Given the description of an element on the screen output the (x, y) to click on. 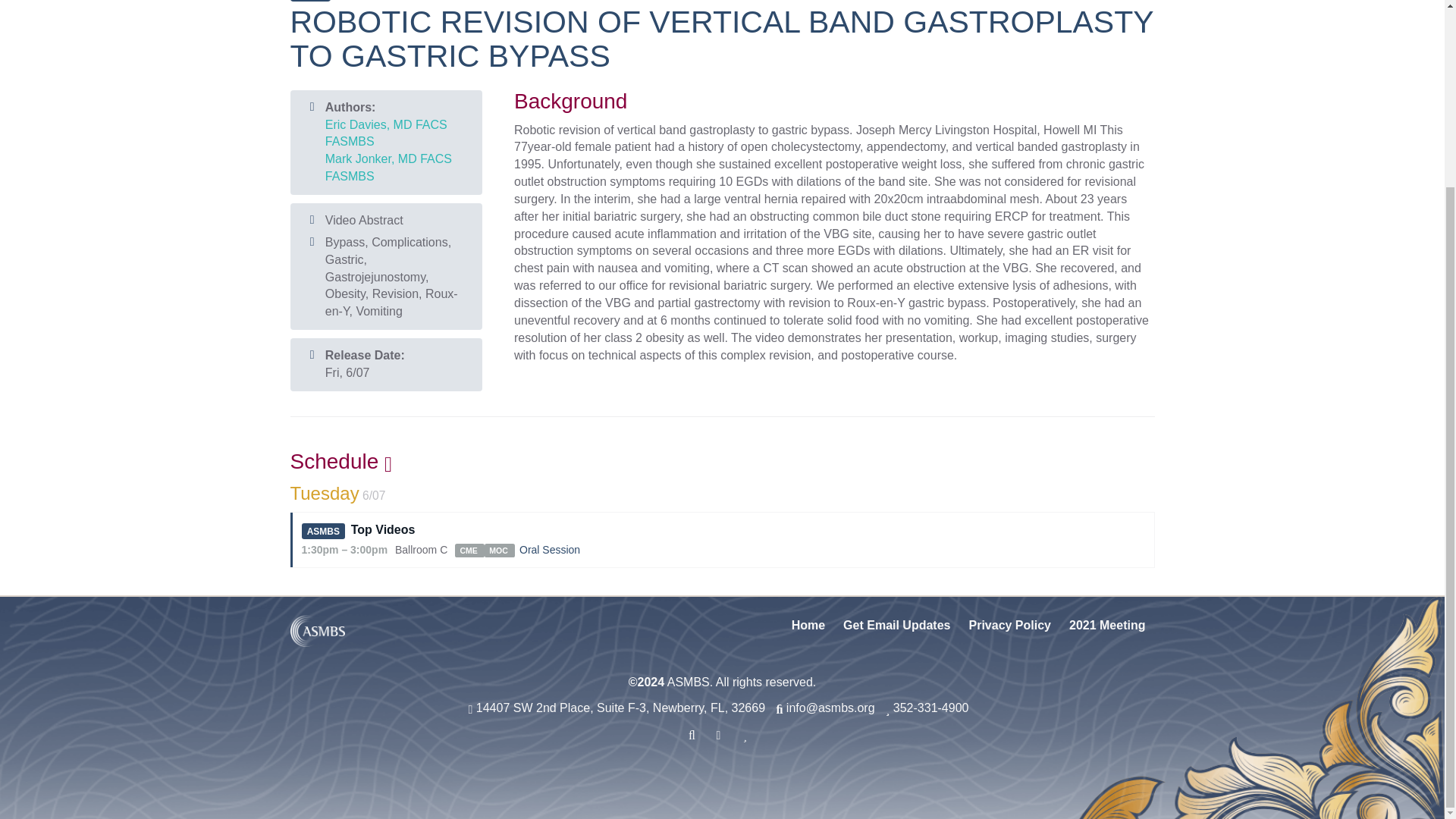
2021 Meeting (1106, 625)
Get Email Updates (896, 625)
Privacy Policy (1009, 625)
Mark Jonker, MD FACS FASMBS (387, 167)
Home (808, 625)
Eric Davies, MD FACS FASMBS (385, 132)
